Given the description of an element on the screen output the (x, y) to click on. 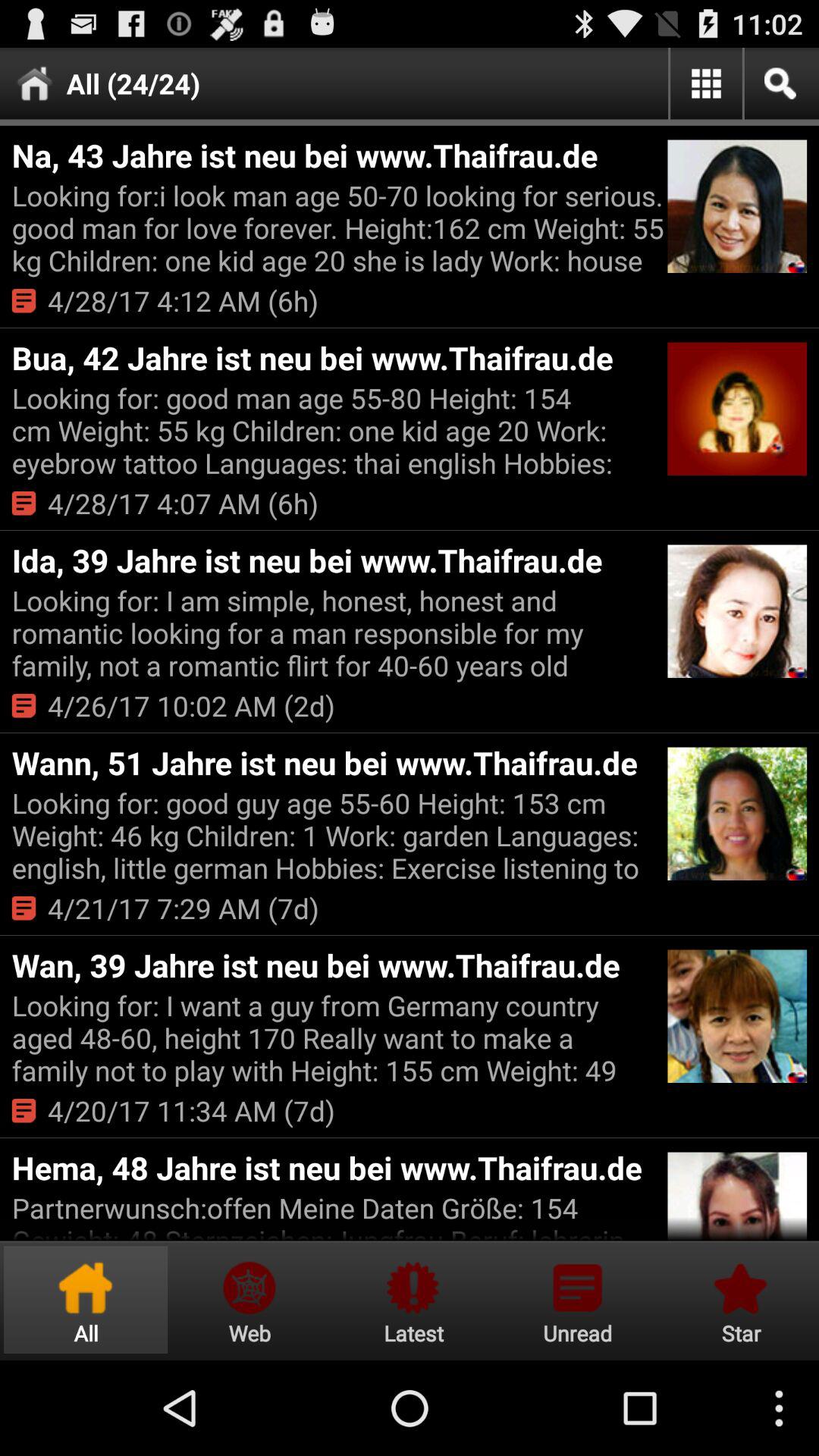
open app above the looking for i item (337, 154)
